Given the description of an element on the screen output the (x, y) to click on. 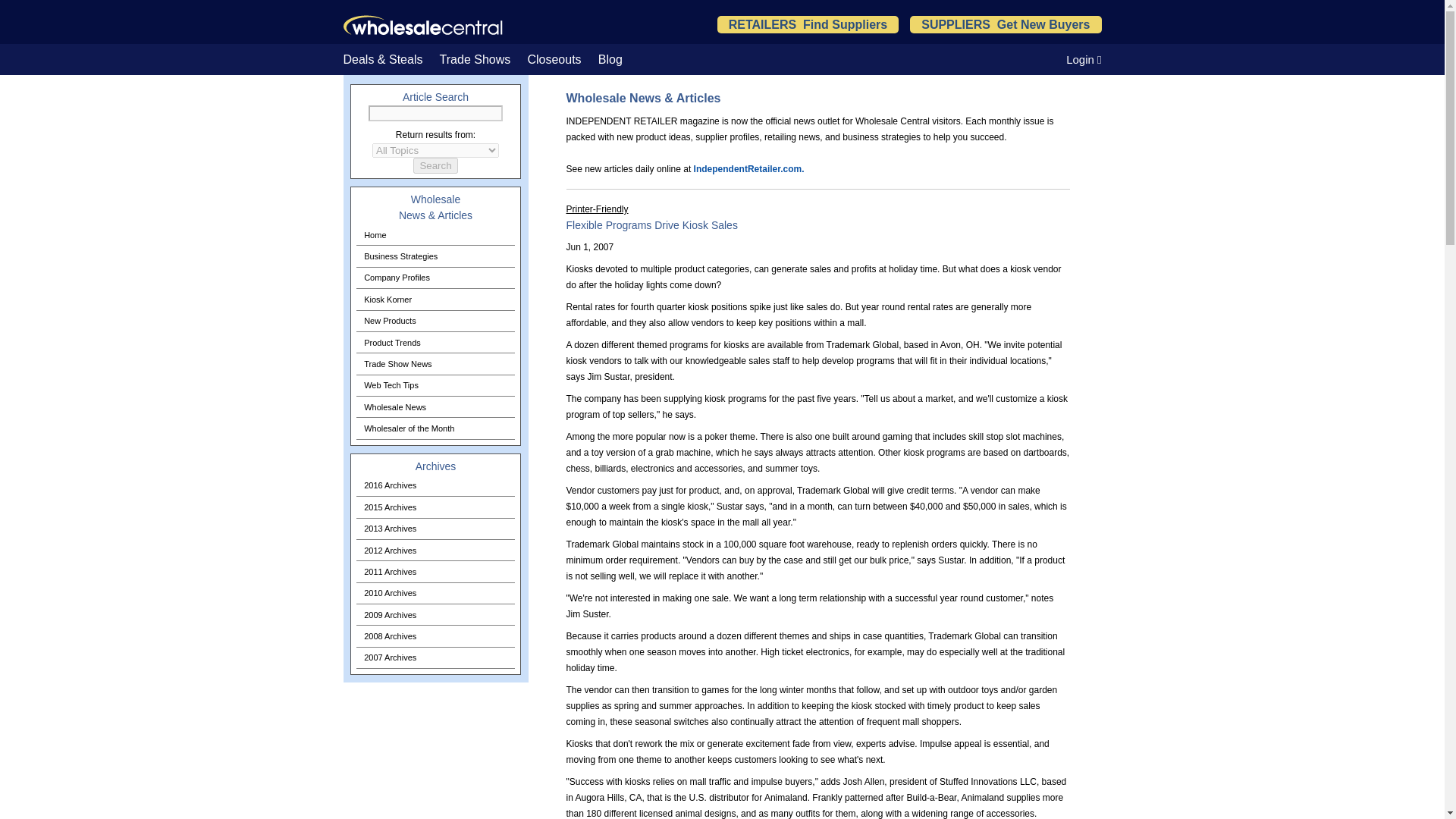
Home (434, 234)
2011 Archives (434, 571)
Search (435, 165)
Closeouts (25, 114)
2010 Archives (434, 593)
2011 Archives (434, 571)
2012 Archives (434, 549)
2013 Archives (434, 528)
2010 Archives (434, 593)
2008 Archives (434, 635)
